Given the description of an element on the screen output the (x, y) to click on. 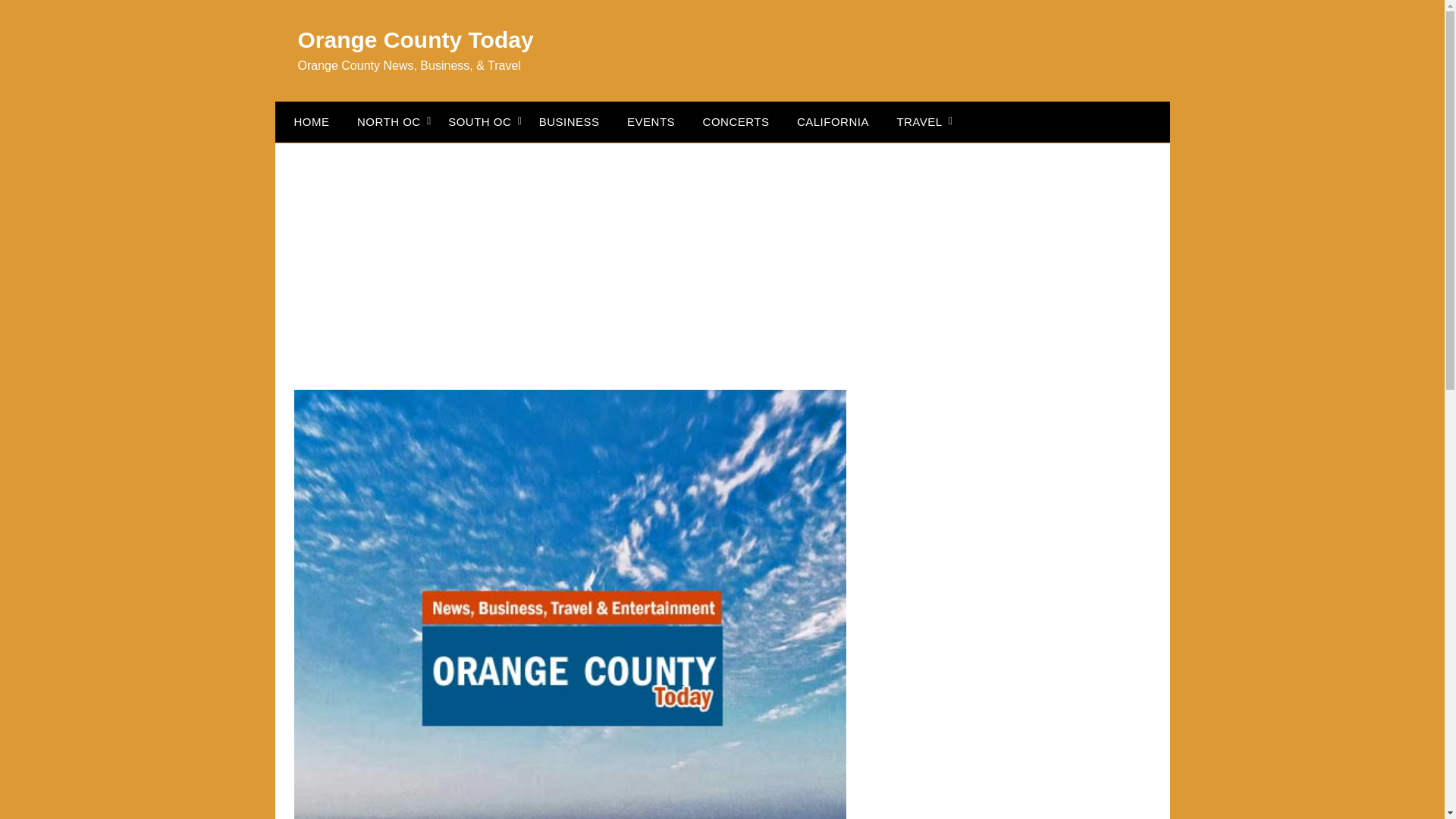
TRAVEL (918, 121)
CONCERTS (735, 121)
Orange County Today (414, 39)
SOUTH OC (478, 121)
NORTH OC (388, 121)
BUSINESS (569, 121)
CALIFORNIA (832, 121)
EVENTS (650, 121)
HOME (307, 121)
